Given the description of an element on the screen output the (x, y) to click on. 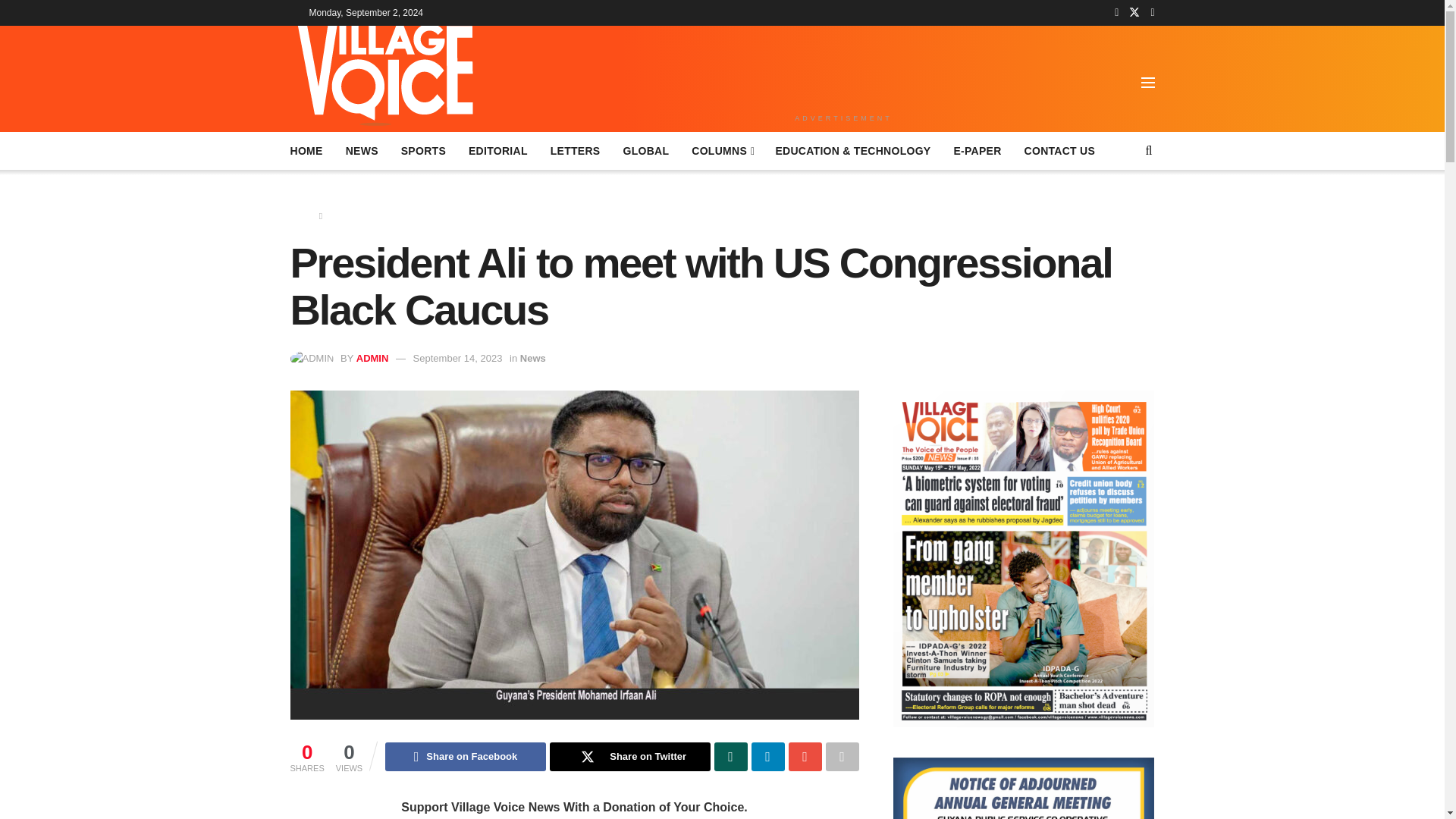
LETTERS (574, 150)
E-PAPER (977, 150)
GLOBAL (645, 150)
SPORTS (423, 150)
COLUMNS (721, 150)
HOME (305, 150)
EDITORIAL (497, 150)
CONTACT US (1060, 150)
NEWS (362, 150)
